Given the description of an element on the screen output the (x, y) to click on. 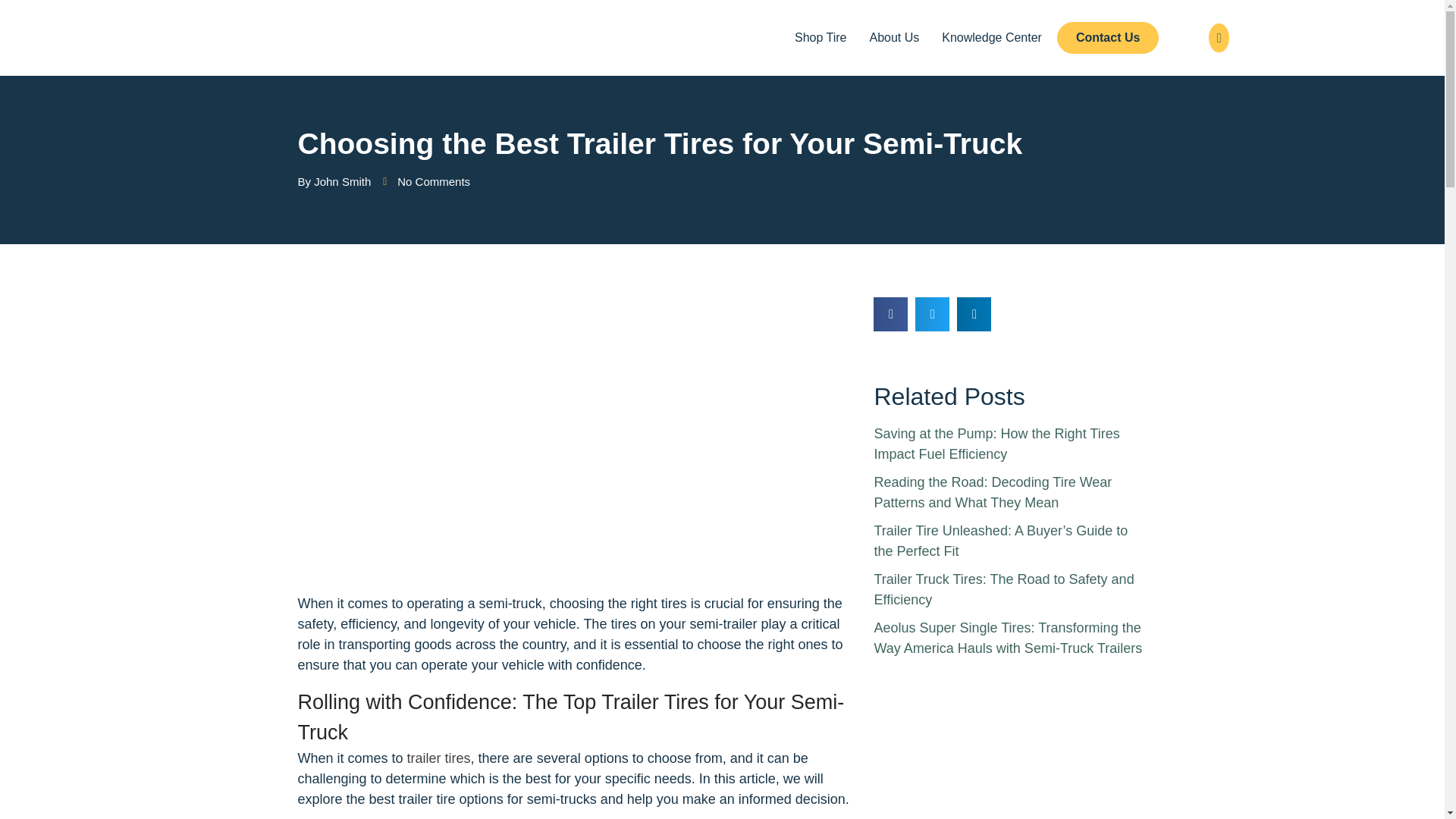
Contact Us (1107, 38)
trailer tires (438, 758)
Shop Tire (819, 38)
No Comments (426, 181)
Knowledge Center (992, 38)
By John Smith (334, 181)
About Us (893, 38)
